Given the description of an element on the screen output the (x, y) to click on. 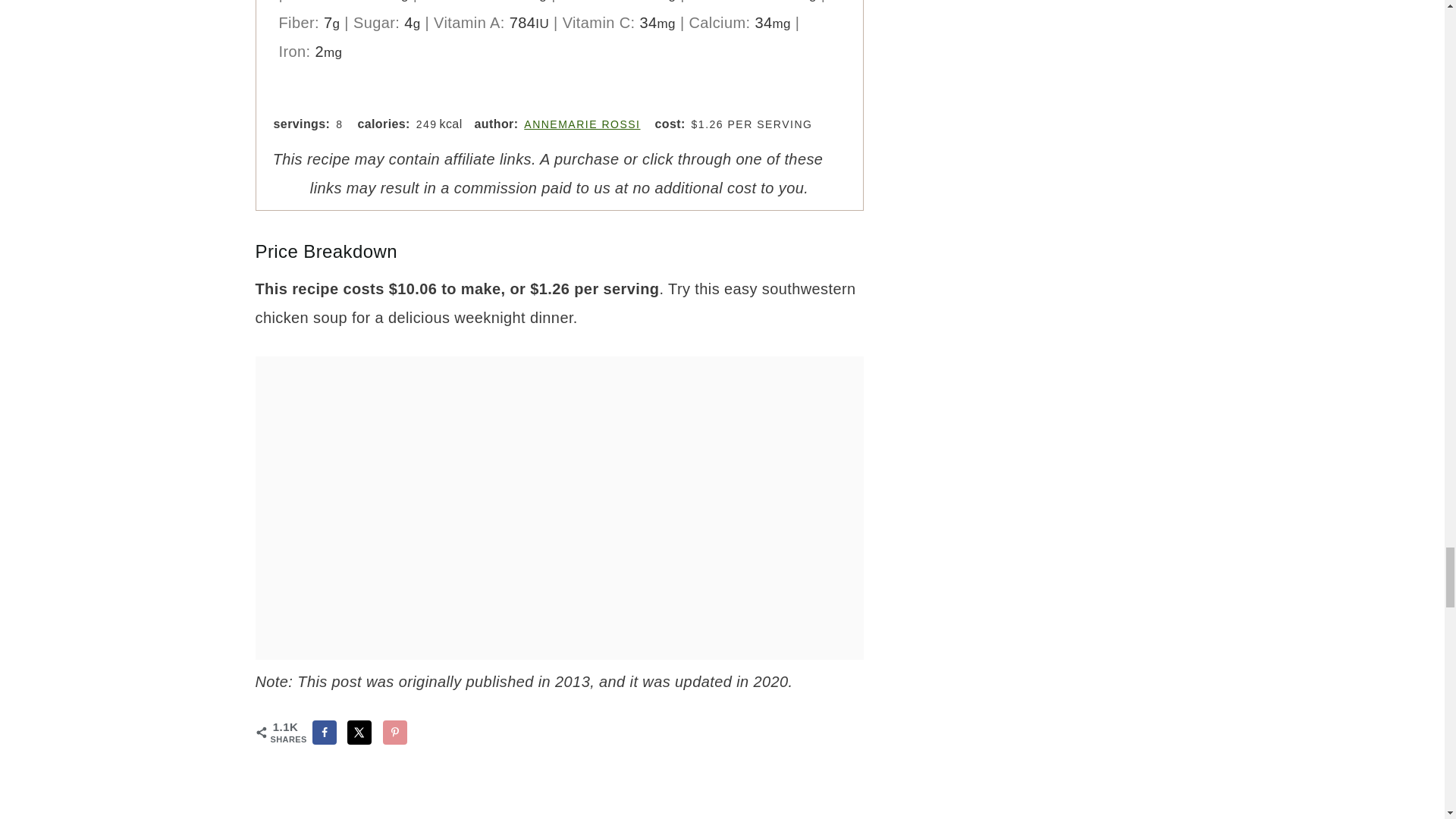
Save to Pinterest (394, 732)
Share on X (359, 732)
Share on Facebook (324, 732)
